Given the description of an element on the screen output the (x, y) to click on. 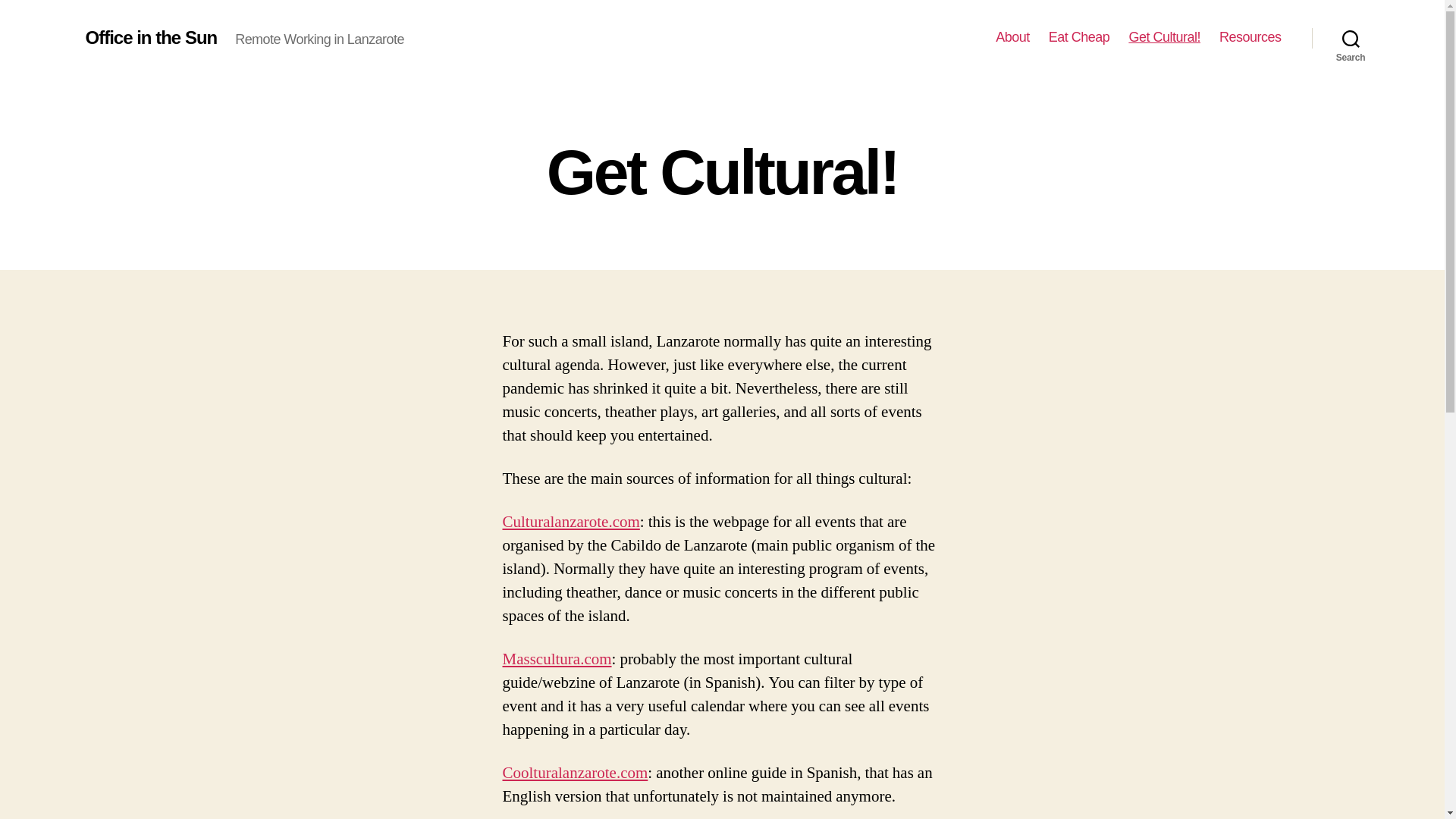
Search (1350, 37)
Office in the Sun (150, 37)
About (1012, 37)
Resources (1250, 37)
Eat Cheap (1078, 37)
Culturalanzarote.com (570, 521)
Masscultura.com (556, 659)
Coolturalanzarote.com (574, 772)
Get Cultural! (1163, 37)
